Given the description of an element on the screen output the (x, y) to click on. 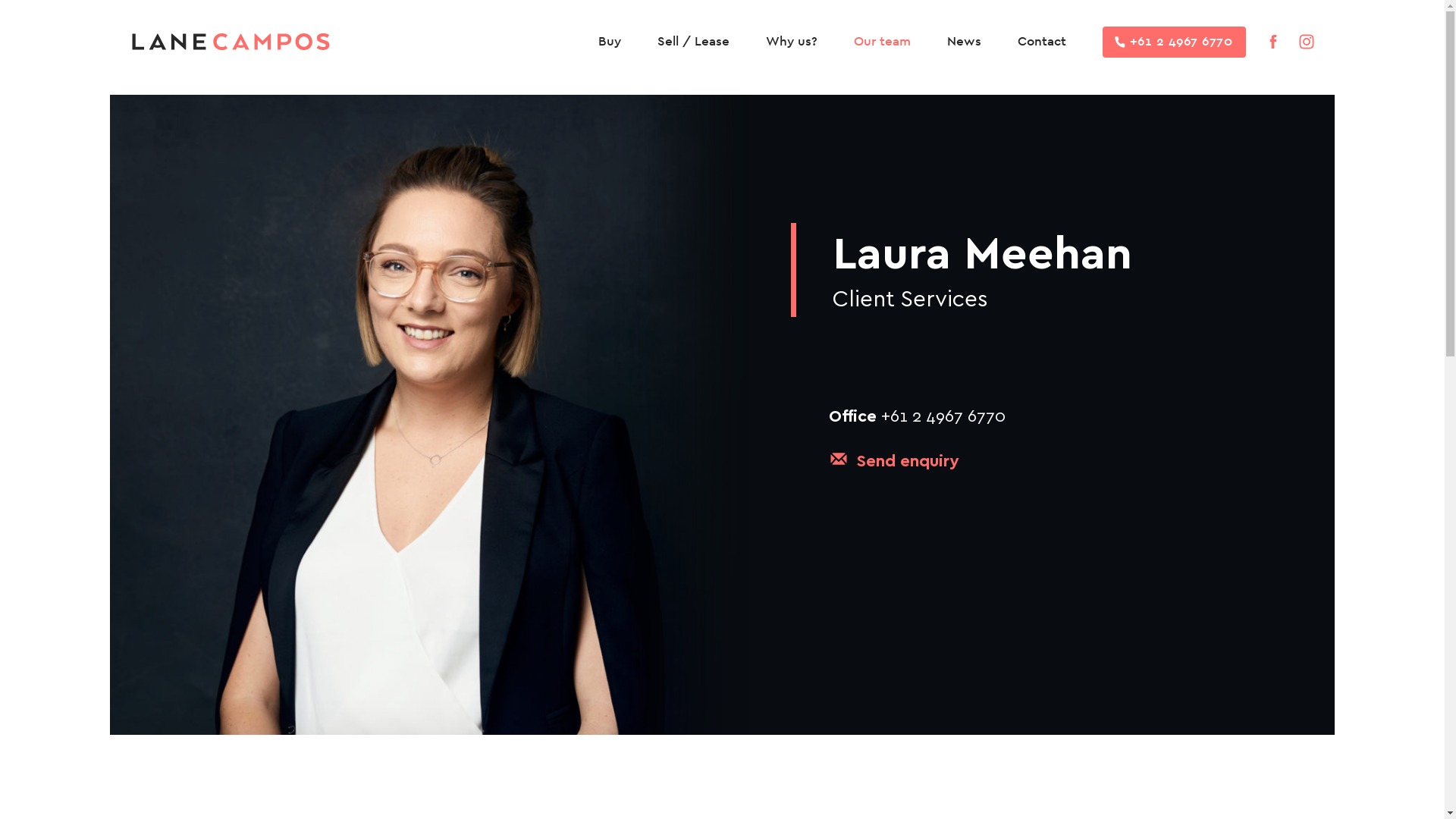
Sell / Lease Element type: text (693, 41)
+61 2 4967 6770 Element type: text (1173, 40)
Office +61 2 4967 6770 Element type: text (916, 414)
Send enquiry Element type: text (907, 459)
Our team Element type: text (881, 41)
Why us? Element type: text (791, 41)
Buy Element type: text (609, 41)
News Element type: text (963, 41)
Contact Element type: text (1041, 41)
